Given the description of an element on the screen output the (x, y) to click on. 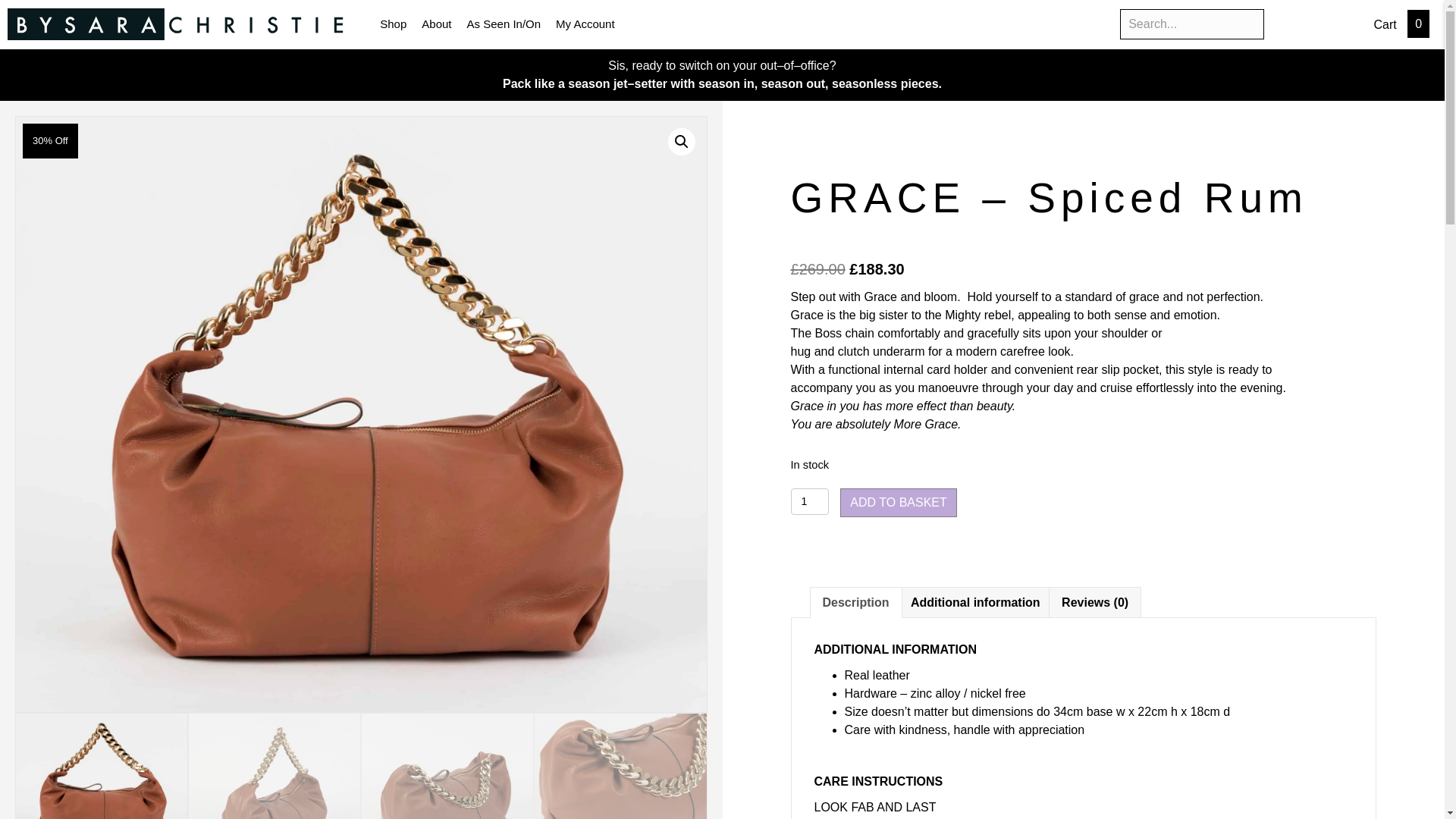
1 (809, 501)
About (435, 24)
View your shopping cart (1386, 23)
By Sara Christie Logo (180, 24)
